Given the description of an element on the screen output the (x, y) to click on. 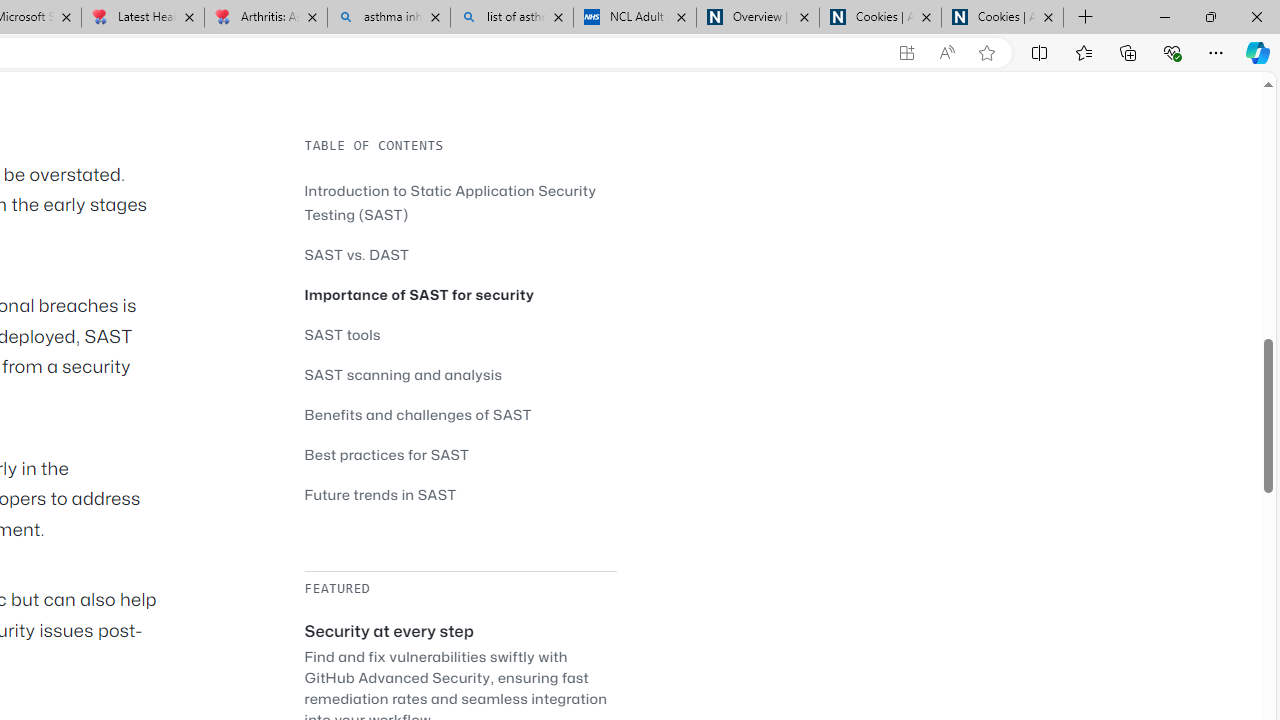
SAST scanning and analysis (460, 374)
Benefits and challenges of SAST (460, 413)
Future trends in SAST (460, 493)
Introduction to Static Application Security Testing (SAST) (460, 201)
Importance of SAST for security (460, 294)
Benefits and challenges of SAST (418, 414)
